Given the description of an element on the screen output the (x, y) to click on. 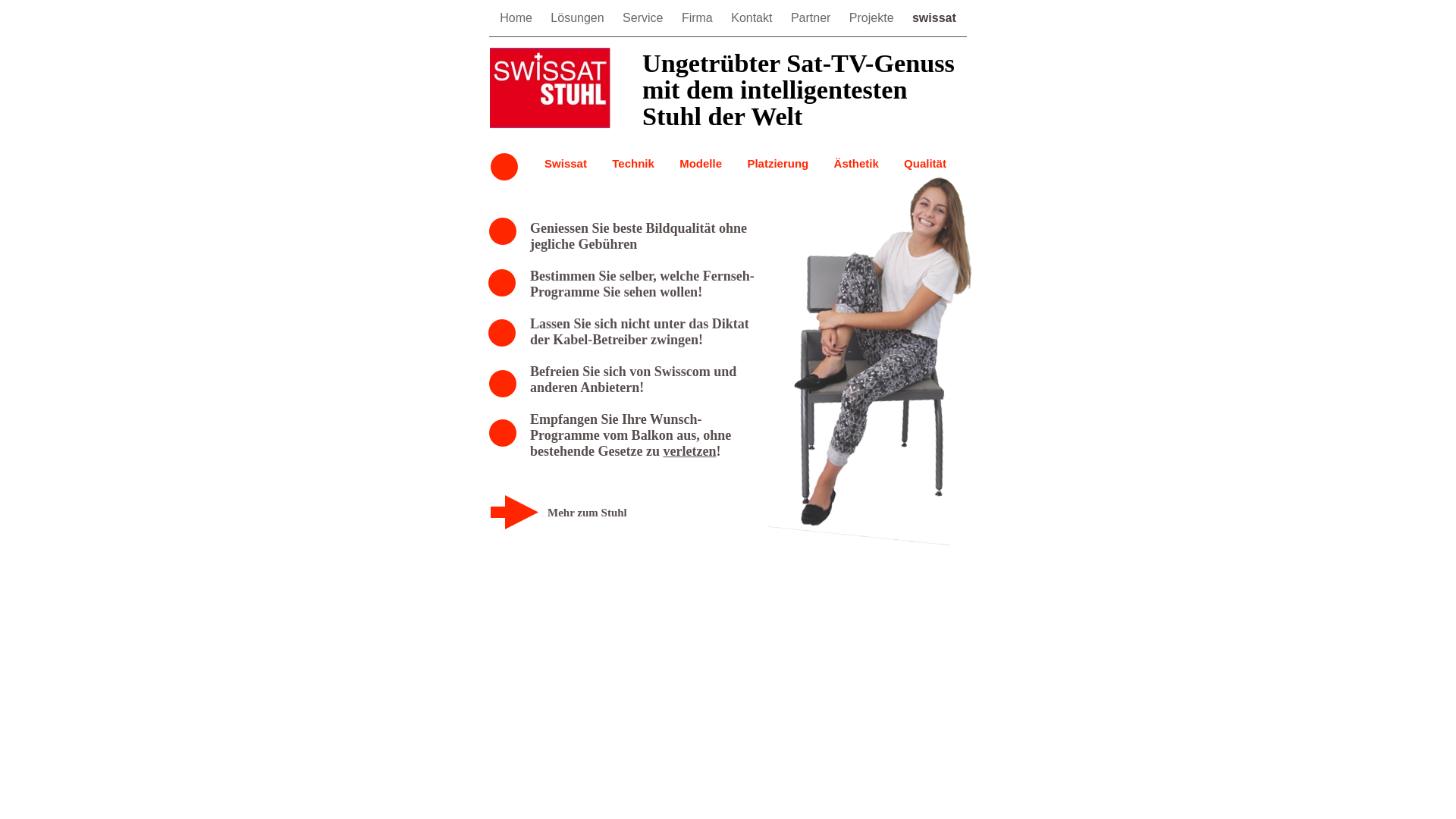
Platzierung Element type: text (777, 162)
Swissat Element type: text (565, 162)
Kontakt Element type: text (753, 17)
Home Element type: text (517, 17)
Modelle Element type: text (700, 162)
Technik Element type: text (632, 162)
Projekte Element type: text (873, 17)
Partner Element type: text (812, 17)
Service Element type: text (644, 17)
swissat Element type: text (934, 17)
verletzen Element type: text (688, 450)
Firma Element type: text (698, 17)
Mehr zum Stuhl Element type: text (587, 512)
